Given the description of an element on the screen output the (x, y) to click on. 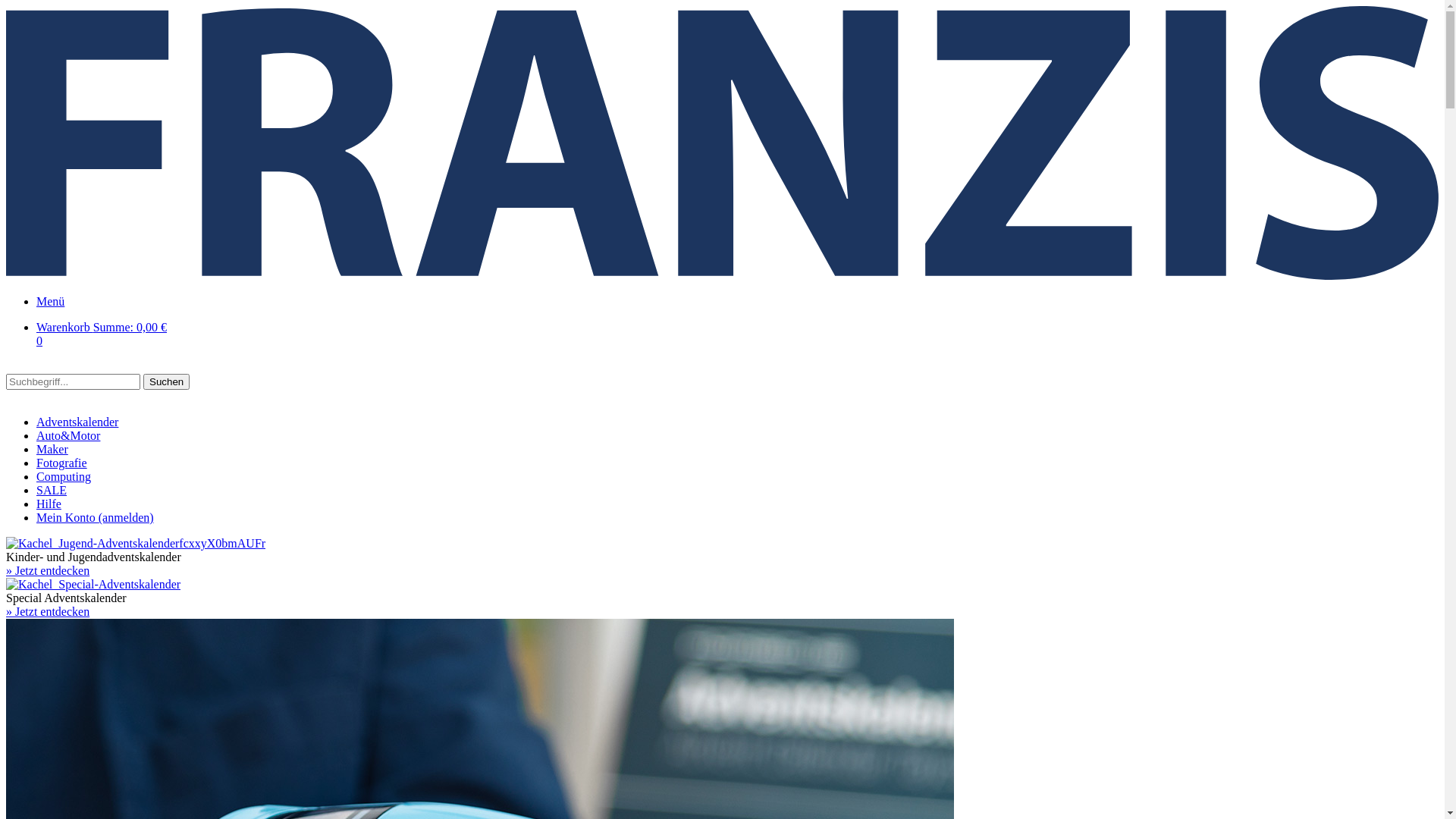
Special Adventskalender Element type: hover (93, 583)
Auto&Motor Element type: text (68, 435)
Kinder- und Jugendadventskalender Element type: hover (135, 542)
Mein Konto (anmelden) Element type: text (94, 517)
SALE Element type: text (51, 489)
Adventskalender Element type: text (77, 421)
 - zur Startseite wechseln Element type: hover (722, 275)
Computing Element type: text (63, 476)
Fotografie Element type: text (61, 462)
Suchen Element type: text (166, 381)
Maker Element type: text (52, 448)
Hilfe Element type: text (48, 503)
